Given the description of an element on the screen output the (x, y) to click on. 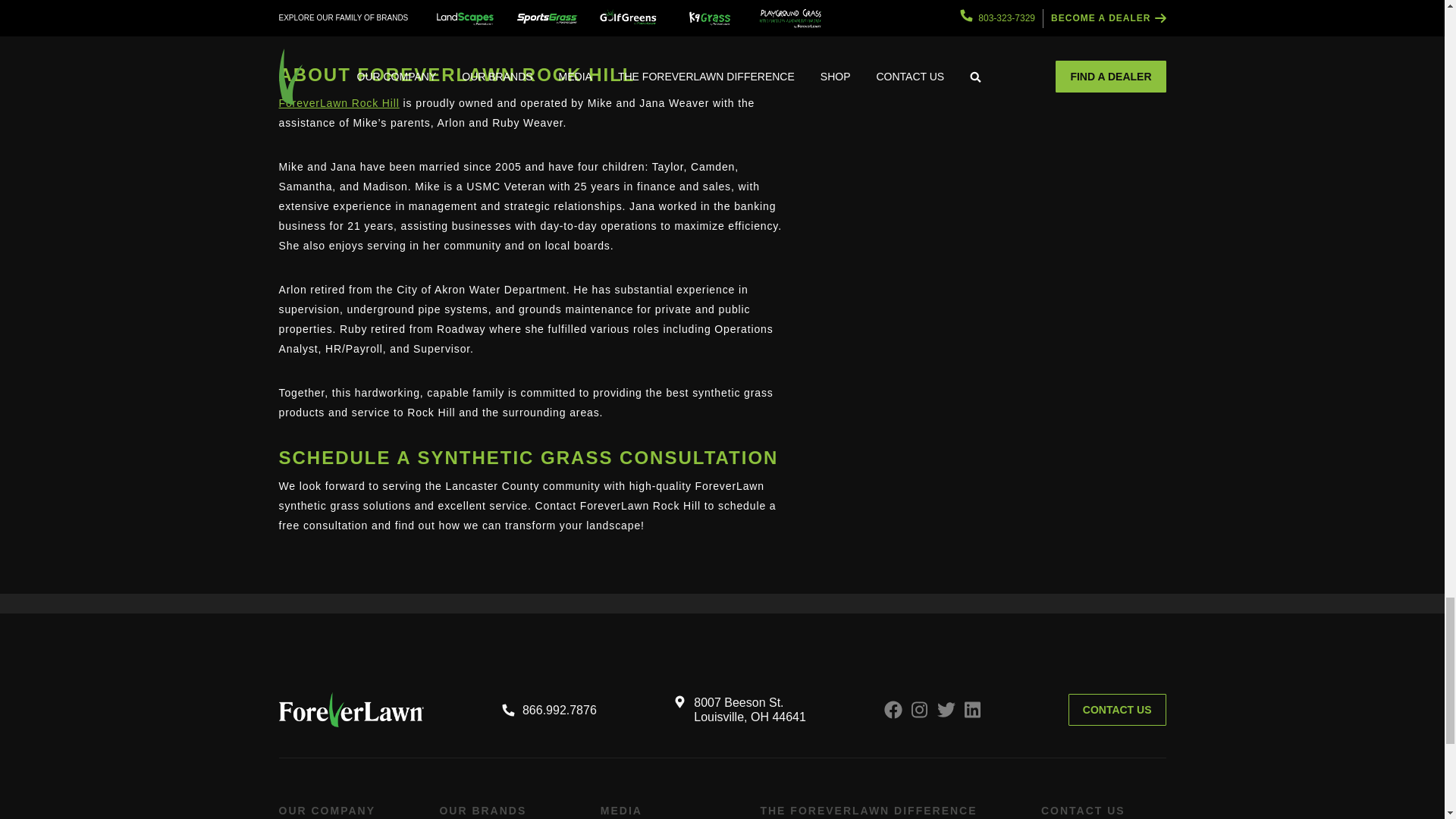
866.992.7876 (549, 709)
ForeverLawn Rock Hill (338, 102)
